Given the description of an element on the screen output the (x, y) to click on. 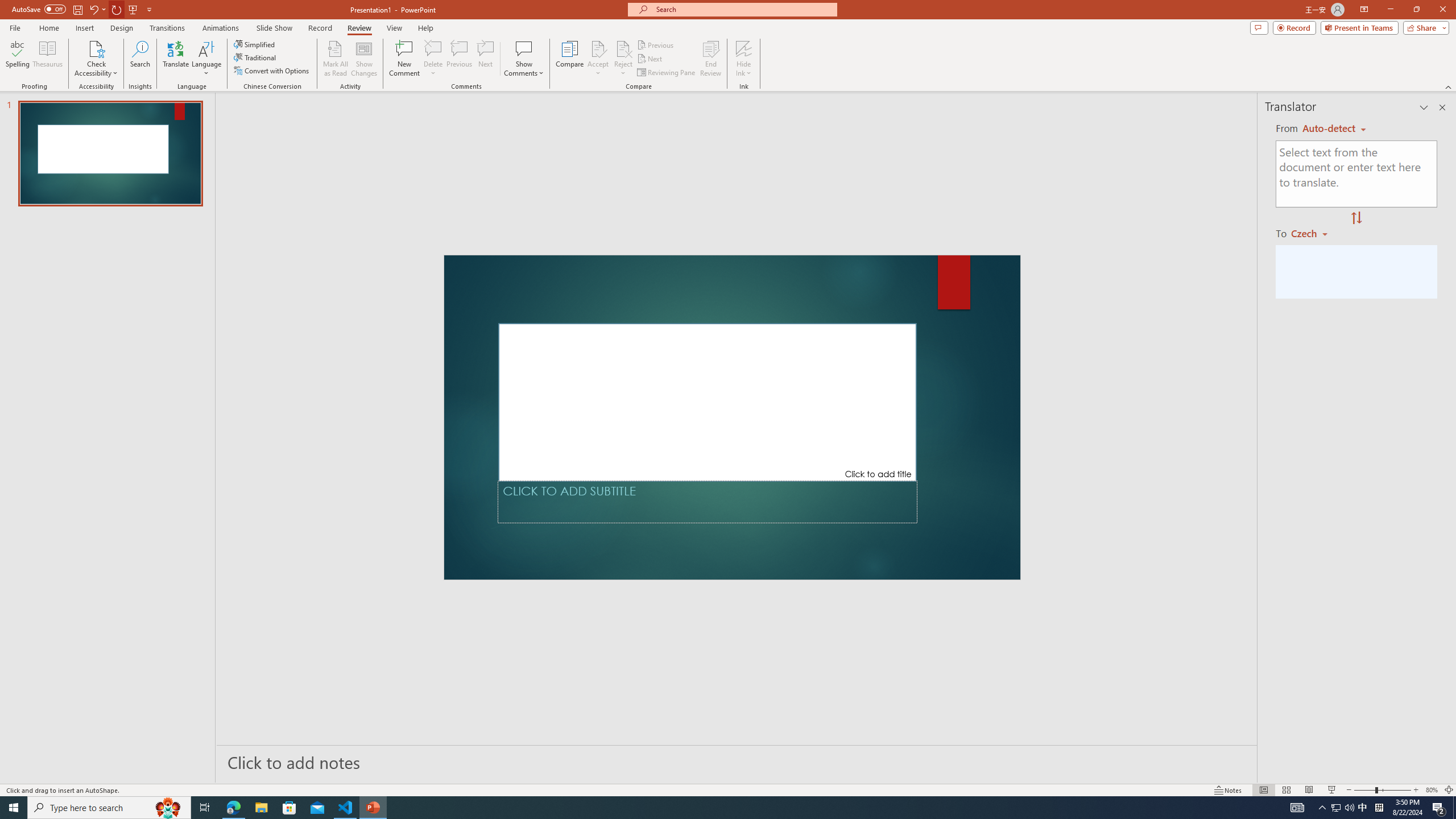
Zoom 80% (1431, 790)
